Given the description of an element on the screen output the (x, y) to click on. 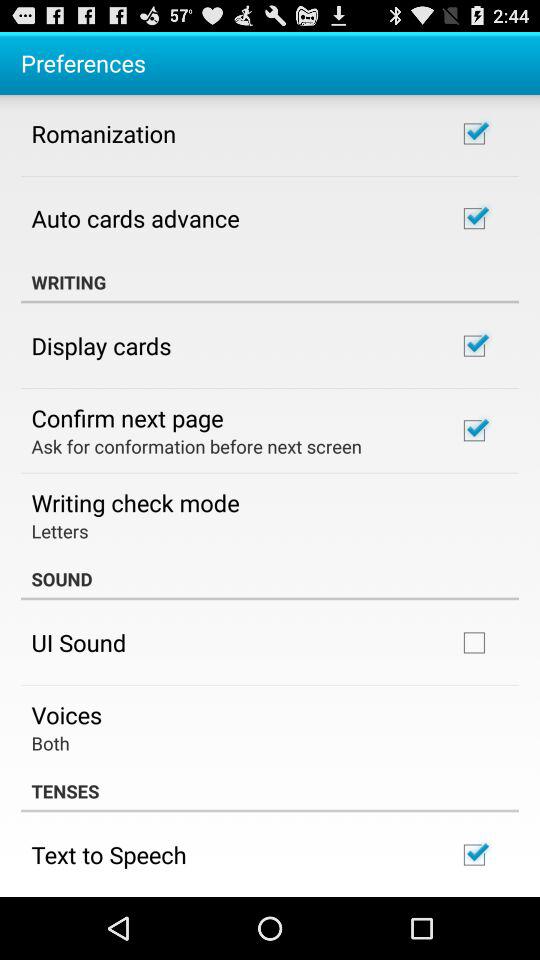
select the second check box (474, 217)
click on first checkbox (474, 133)
select the last check box (474, 855)
select the check box for display cards (474, 345)
